Given the description of an element on the screen output the (x, y) to click on. 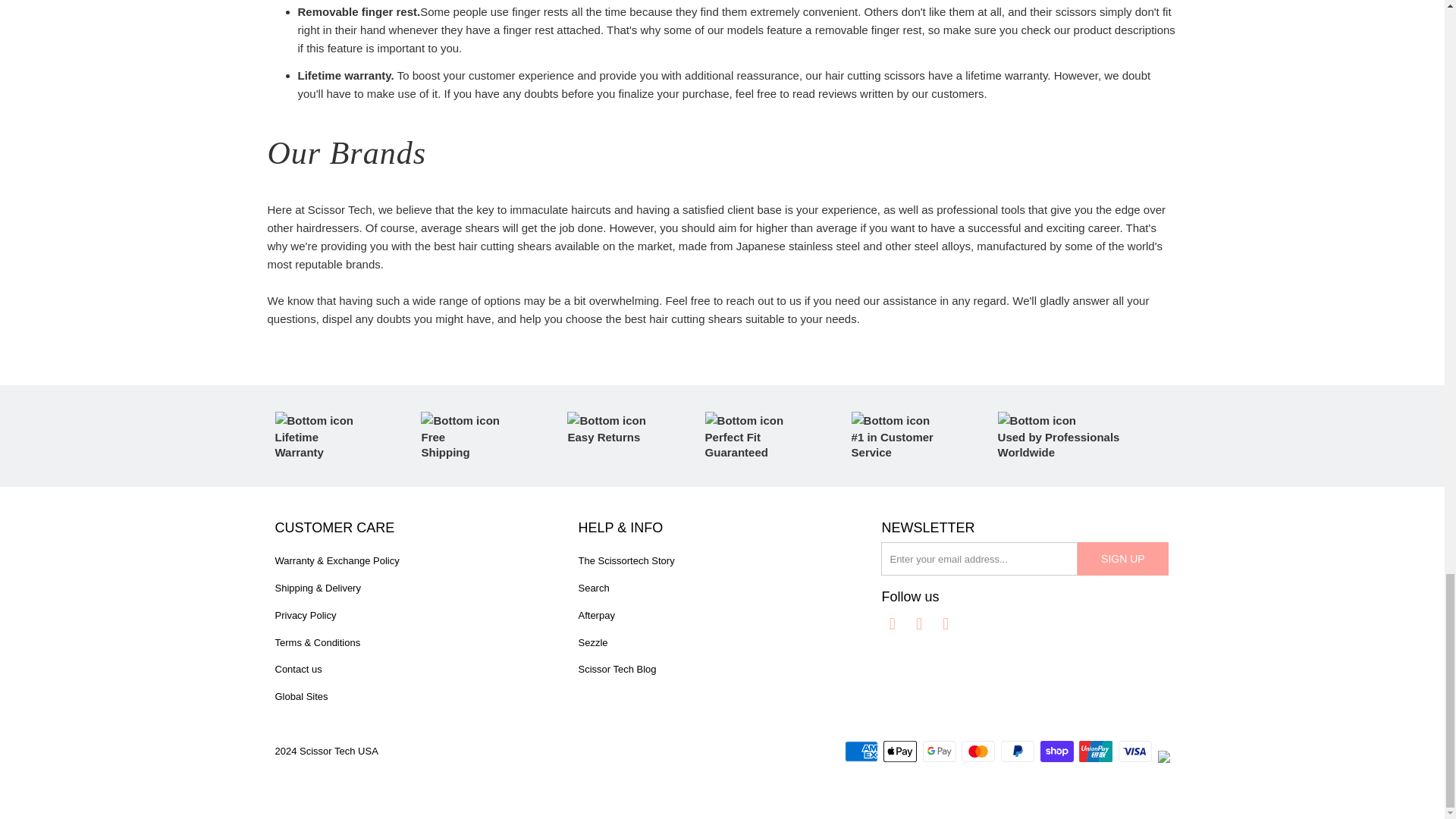
Mastercard (978, 751)
Shop Pay (1059, 751)
Visa (1136, 751)
Google Pay (941, 751)
PayPal (1018, 751)
Union Pay (1096, 751)
Sign Up (1123, 558)
Apple Pay (901, 751)
American Express (862, 751)
